Given the description of an element on the screen output the (x, y) to click on. 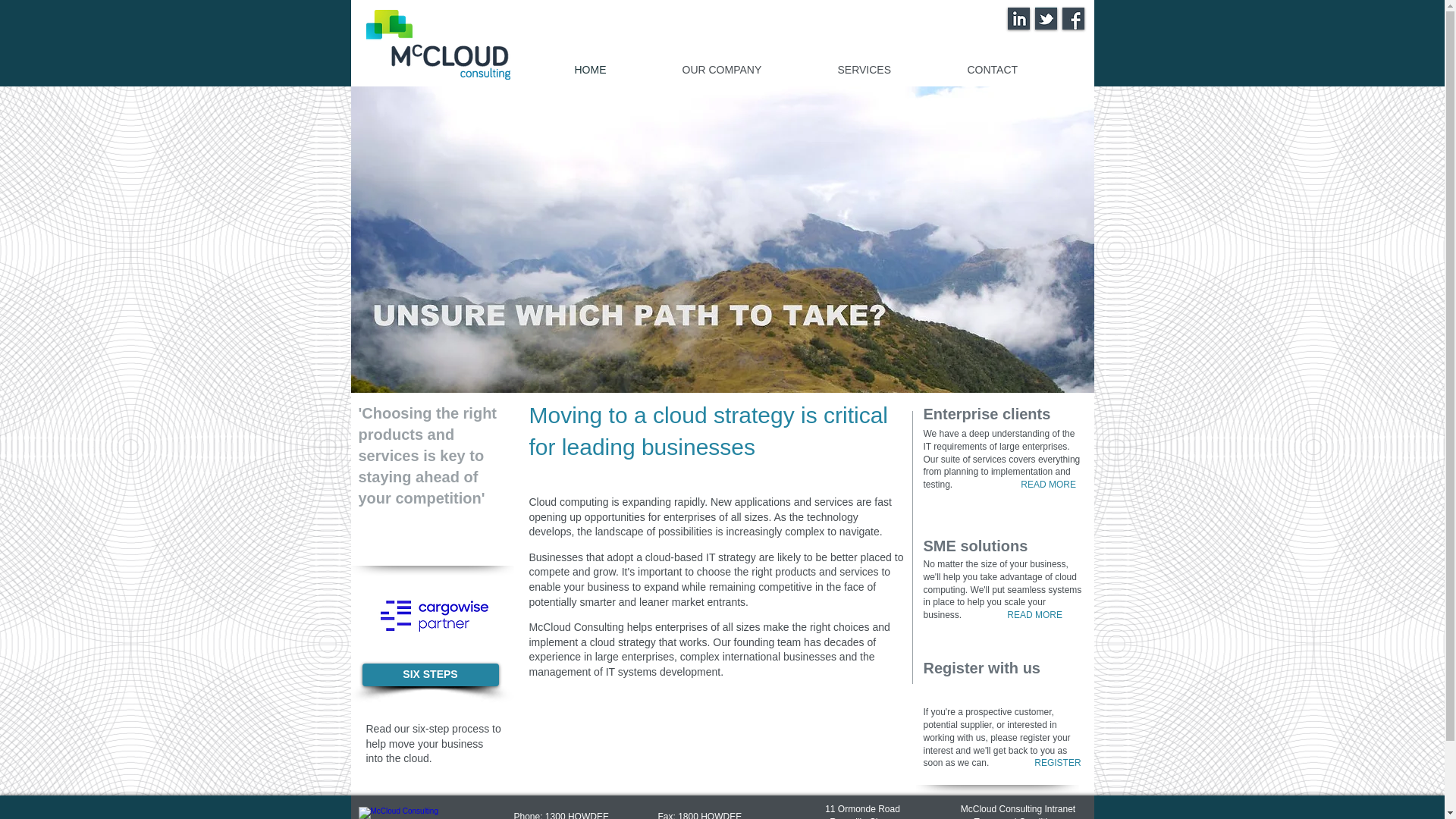
SERVICES Element type: text (888, 69)
Follow us on Facebook Element type: hover (1072, 18)
Register with us Element type: text (981, 670)
McCloud Consulting Element type: hover (437, 44)
READ MORE Element type: text (1034, 614)
SIX STEPS Element type: text (430, 674)
HOME Element type: text (614, 69)
McCloud Consulting Intranet Element type: text (1017, 808)
Enterprise clients Element type: text (987, 416)
REGISTER Element type: text (1056, 762)
OUR COMPANY Element type: text (746, 69)
Follow us on LinkedIn Element type: hover (1018, 18)
CONTACT Element type: text (1016, 69)
Follow us on Twitter Element type: hover (1045, 18)
READ MORE  Element type: text (1049, 484)
SME solutions Element type: text (975, 548)
